Given the description of an element on the screen output the (x, y) to click on. 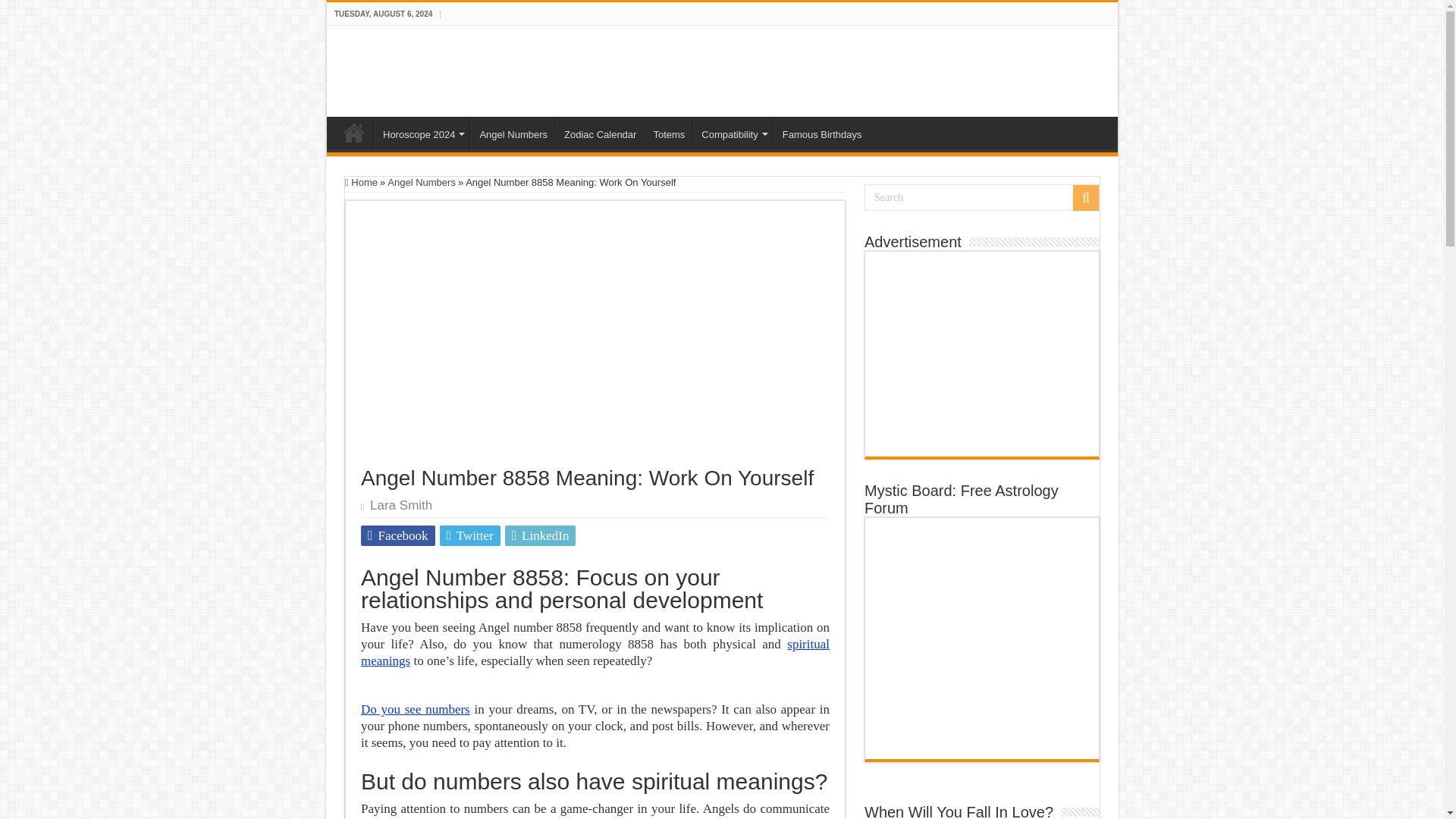
Twitter (469, 535)
Horoscope 2024 (422, 132)
Facebook (398, 535)
Horoscope 2024 (422, 132)
Zodiac Calendar (599, 132)
Sun Signs (354, 132)
Home (361, 182)
Zodiac Calendar (599, 132)
Search (981, 197)
Compatibility (733, 132)
Do you see numbers (415, 708)
Lara Smith (400, 504)
Famous Birthdays (821, 132)
Angel Numbers (512, 132)
LinkedIn (540, 535)
